Given the description of an element on the screen output the (x, y) to click on. 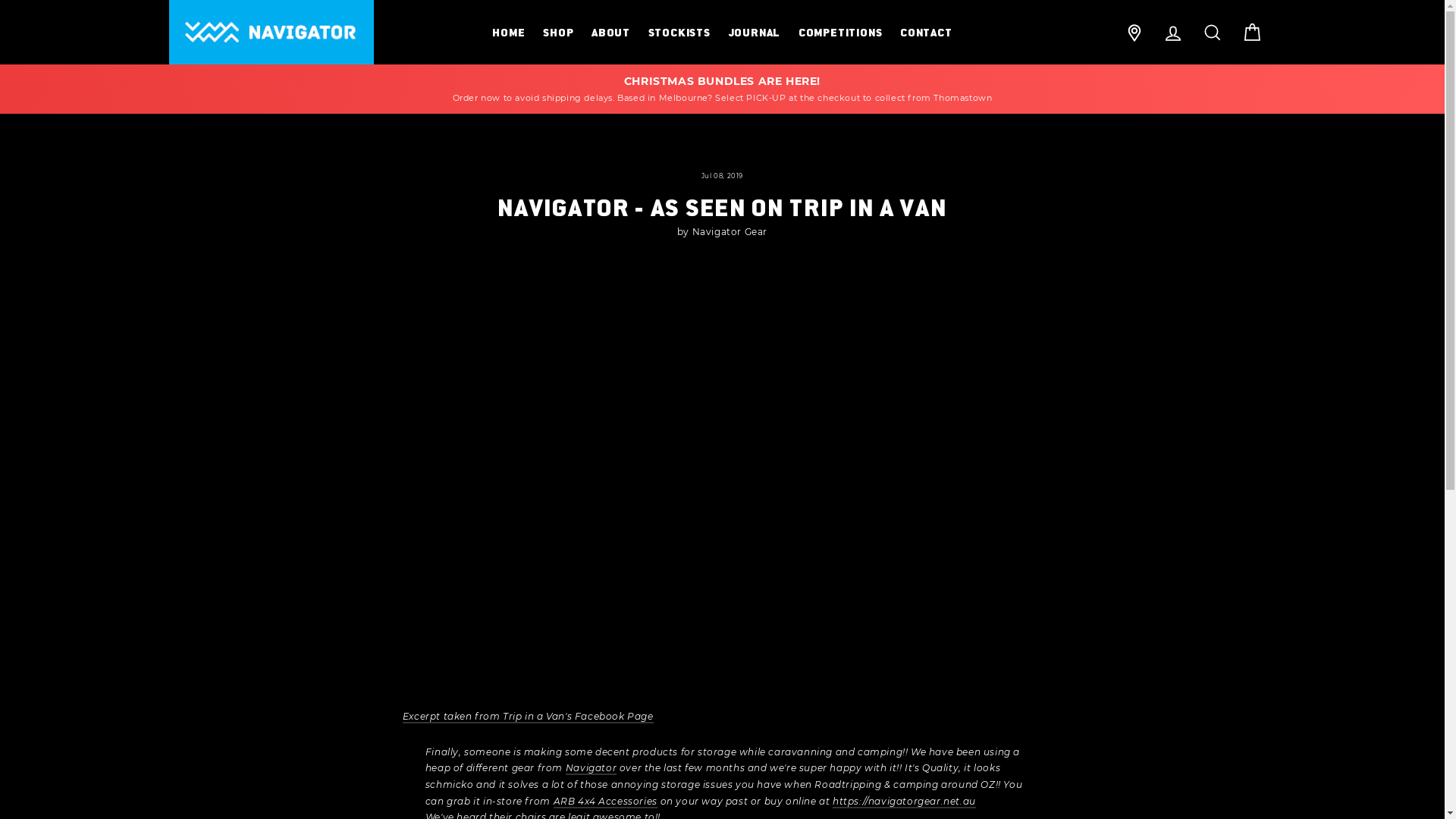
STOCKISTS Element type: text (679, 31)
ABOUT Element type: text (610, 31)
JOURNAL Element type: text (753, 31)
https://navigatorgear.net.au Element type: text (903, 801)
CONTACT Element type: text (926, 31)
SHOP Element type: text (557, 31)
HOME Element type: text (508, 31)
Excerpt taken from Trip in a Van's Facebook Page Element type: text (527, 716)
TRANSLATION MISSING: EN.GENERAL.STOCKIST.TITLE Element type: text (1134, 31)
CART Element type: text (1251, 31)
ARB 4x4 Accessories Element type: text (605, 801)
COMPETITIONS Element type: text (840, 31)
Skip to content Element type: text (0, 0)
Navigator Element type: text (590, 768)
